Given the description of an element on the screen output the (x, y) to click on. 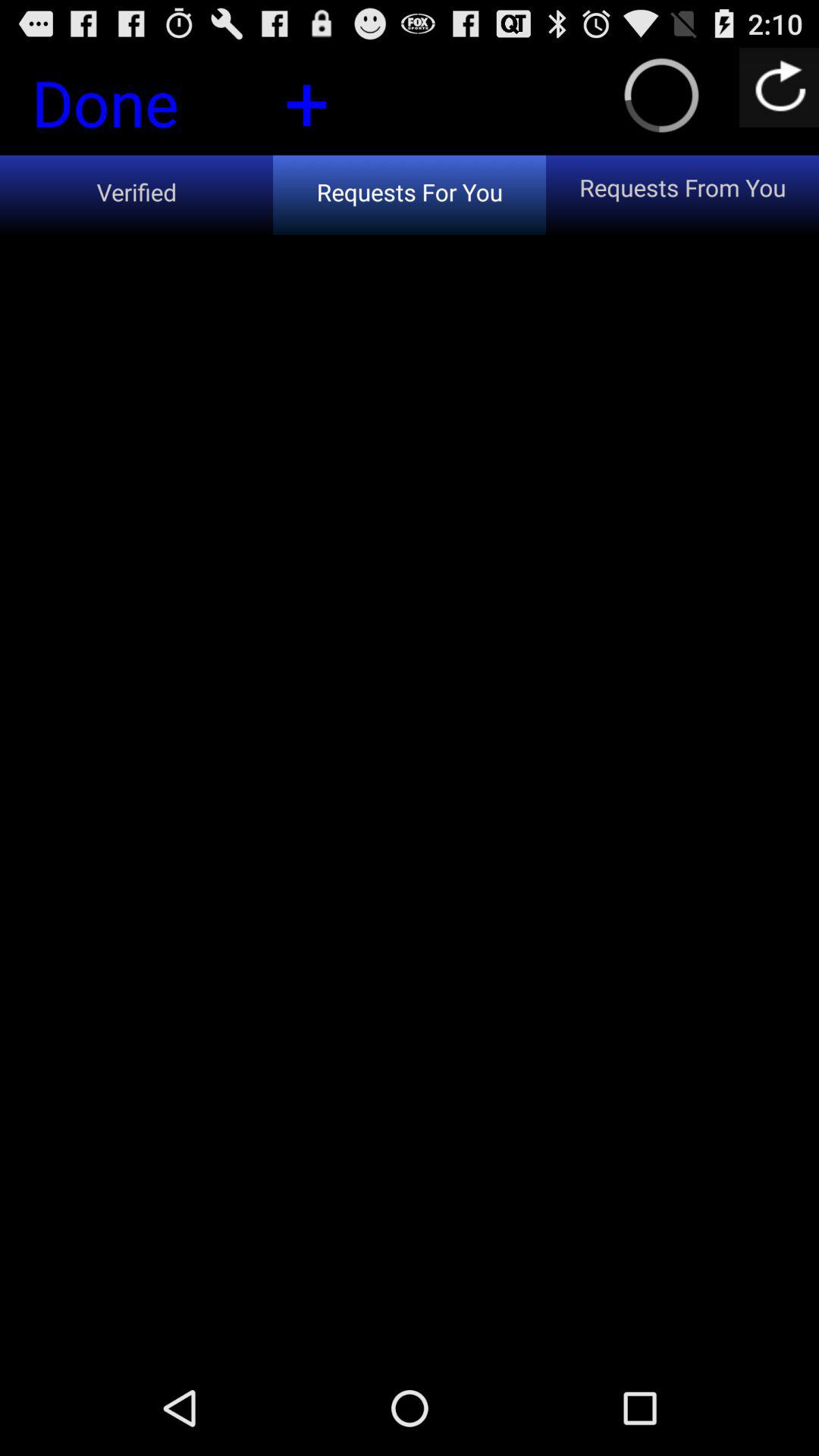
launch the done button (130, 107)
